Given the description of an element on the screen output the (x, y) to click on. 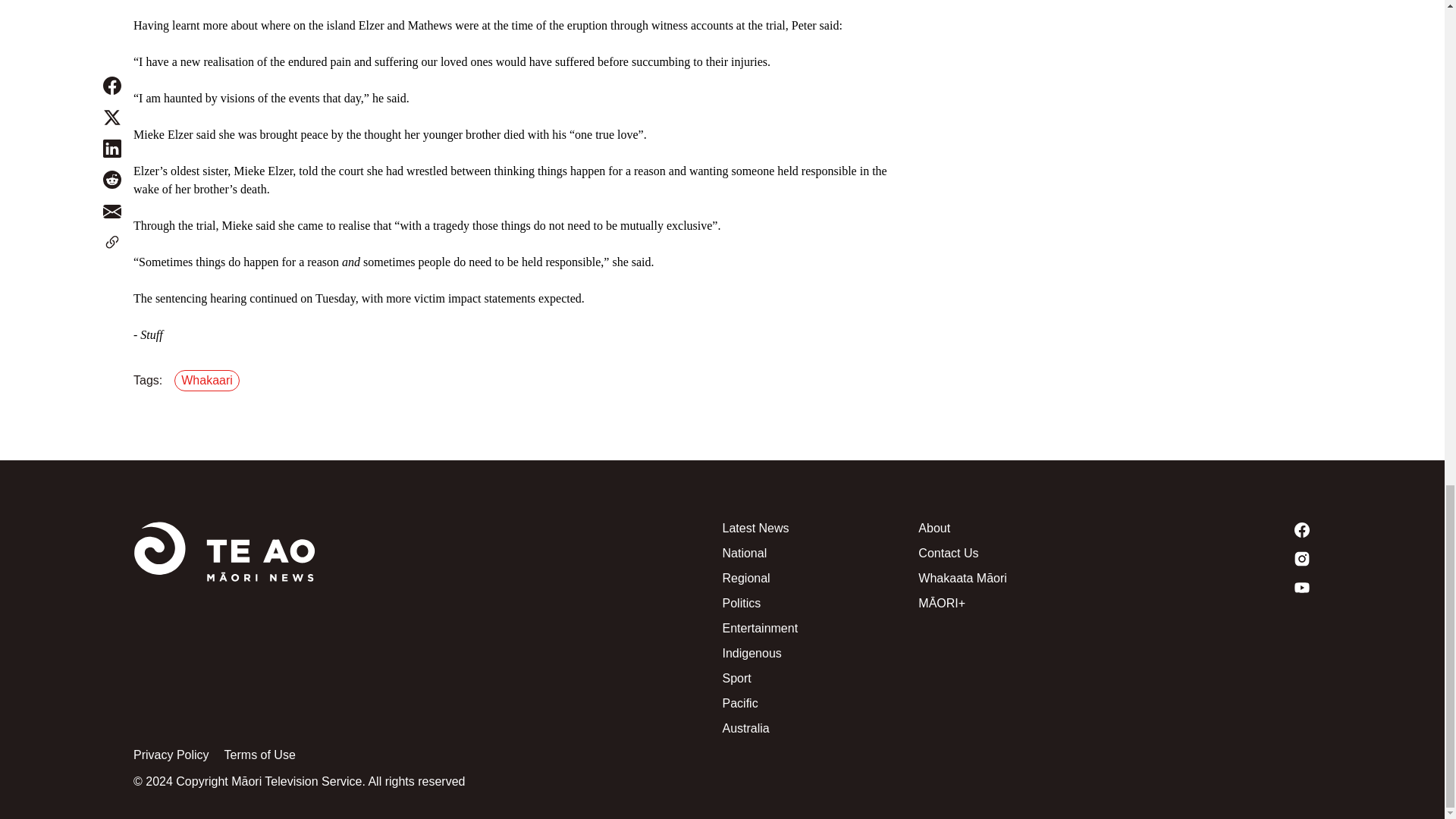
Whakaari (210, 380)
Youtube (1213, 587)
Instagram (1213, 558)
Facebook (1213, 529)
